Given the description of an element on the screen output the (x, y) to click on. 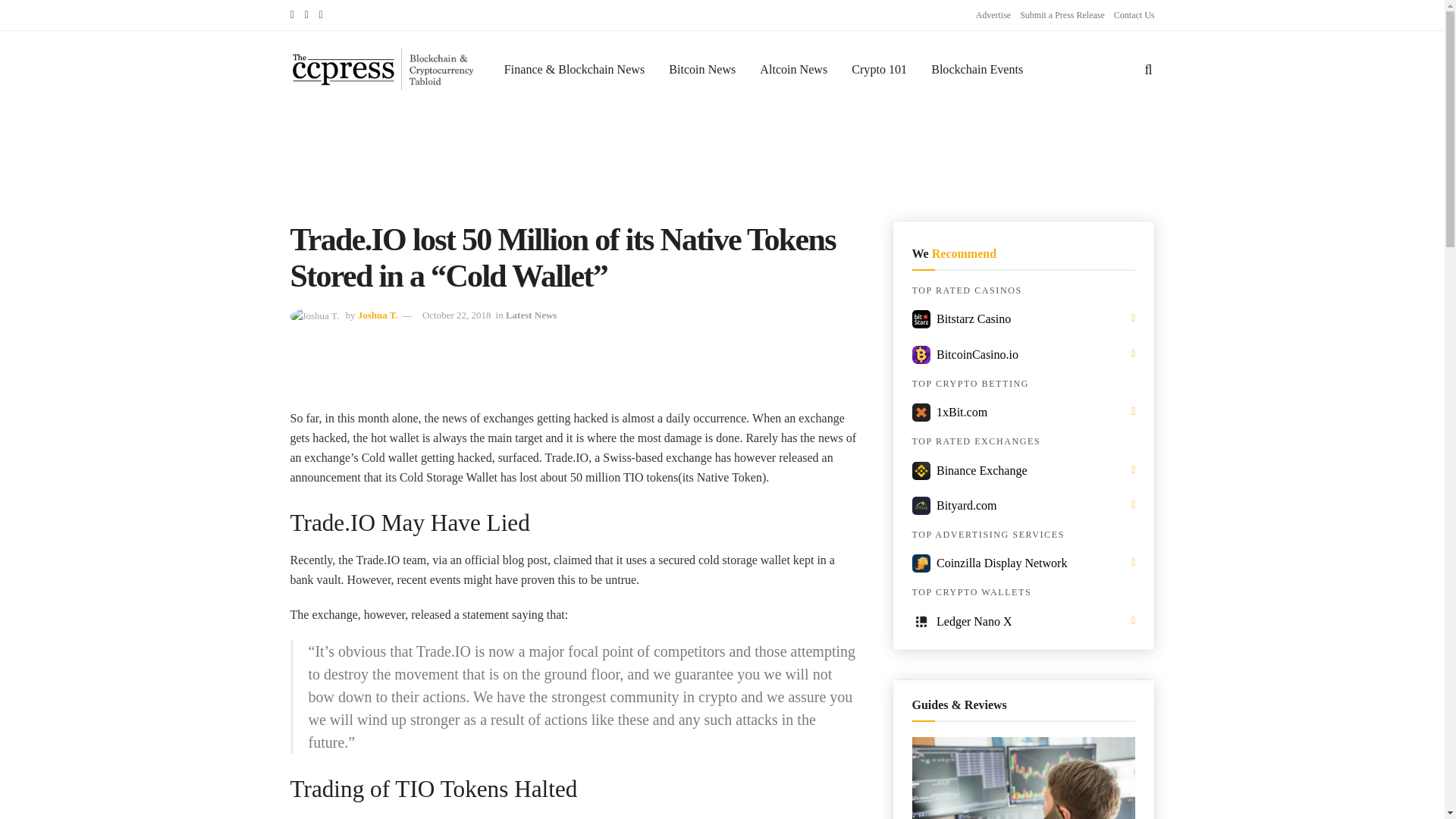
Submit a Press Release (1062, 15)
Advertise (993, 15)
Contact Us (1133, 15)
Altcoin News (794, 68)
Bitcoin News (702, 68)
